Given the description of an element on the screen output the (x, y) to click on. 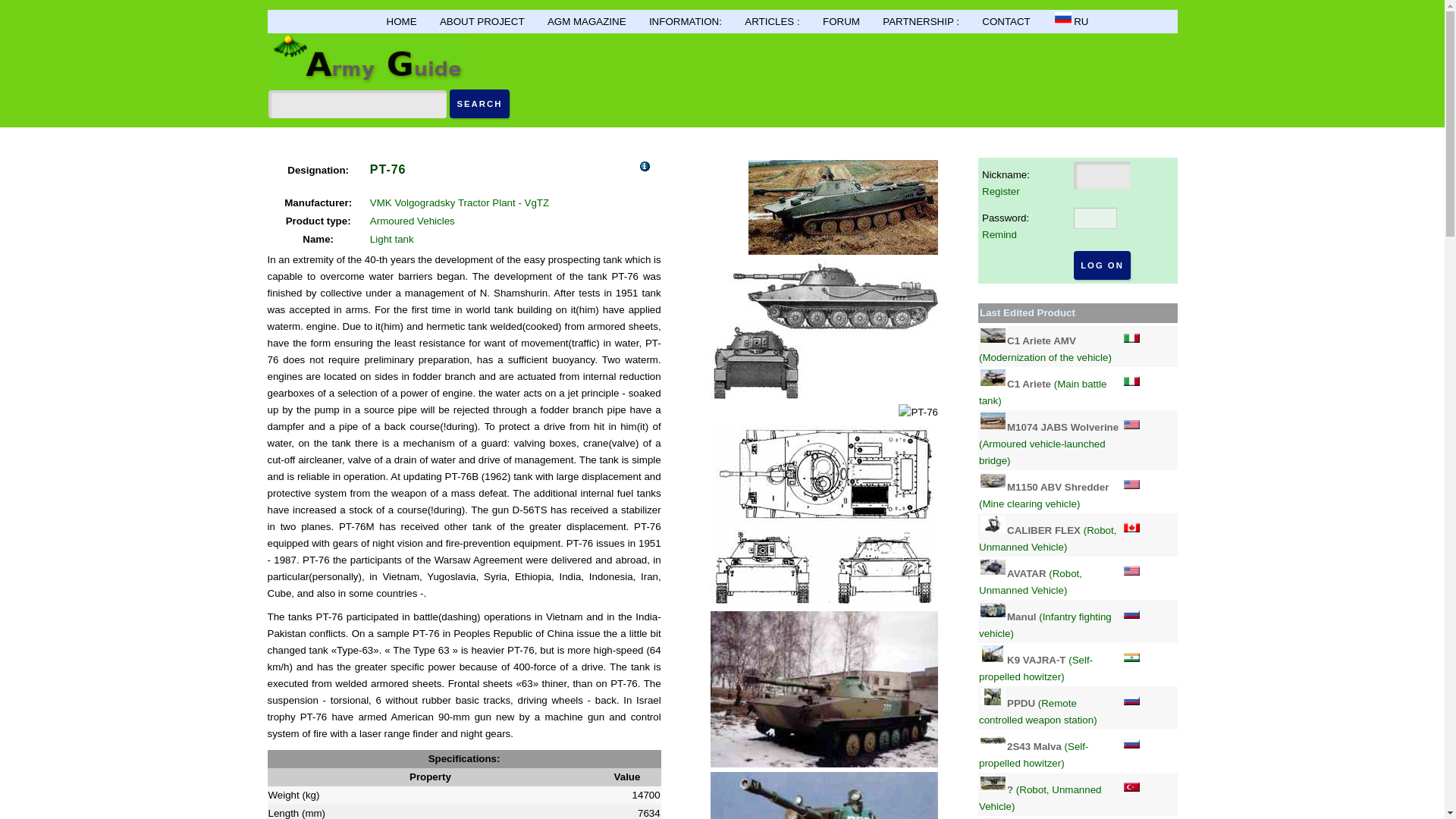
Light tank (391, 238)
HOME (401, 21)
Info (644, 165)
AGM MAGAZINE (586, 21)
CONTACT (1005, 21)
PARTNERSHIP : (920, 21)
ABOUT PROJECT (481, 21)
Search (479, 103)
RU (1069, 19)
Armoured Vehicles (411, 220)
INFORMATION: (685, 21)
FORUM (841, 21)
Search (479, 103)
VMK Volgogradsky Tractor Plant - VgTZ (458, 202)
ARTICLES : (771, 21)
